Given the description of an element on the screen output the (x, y) to click on. 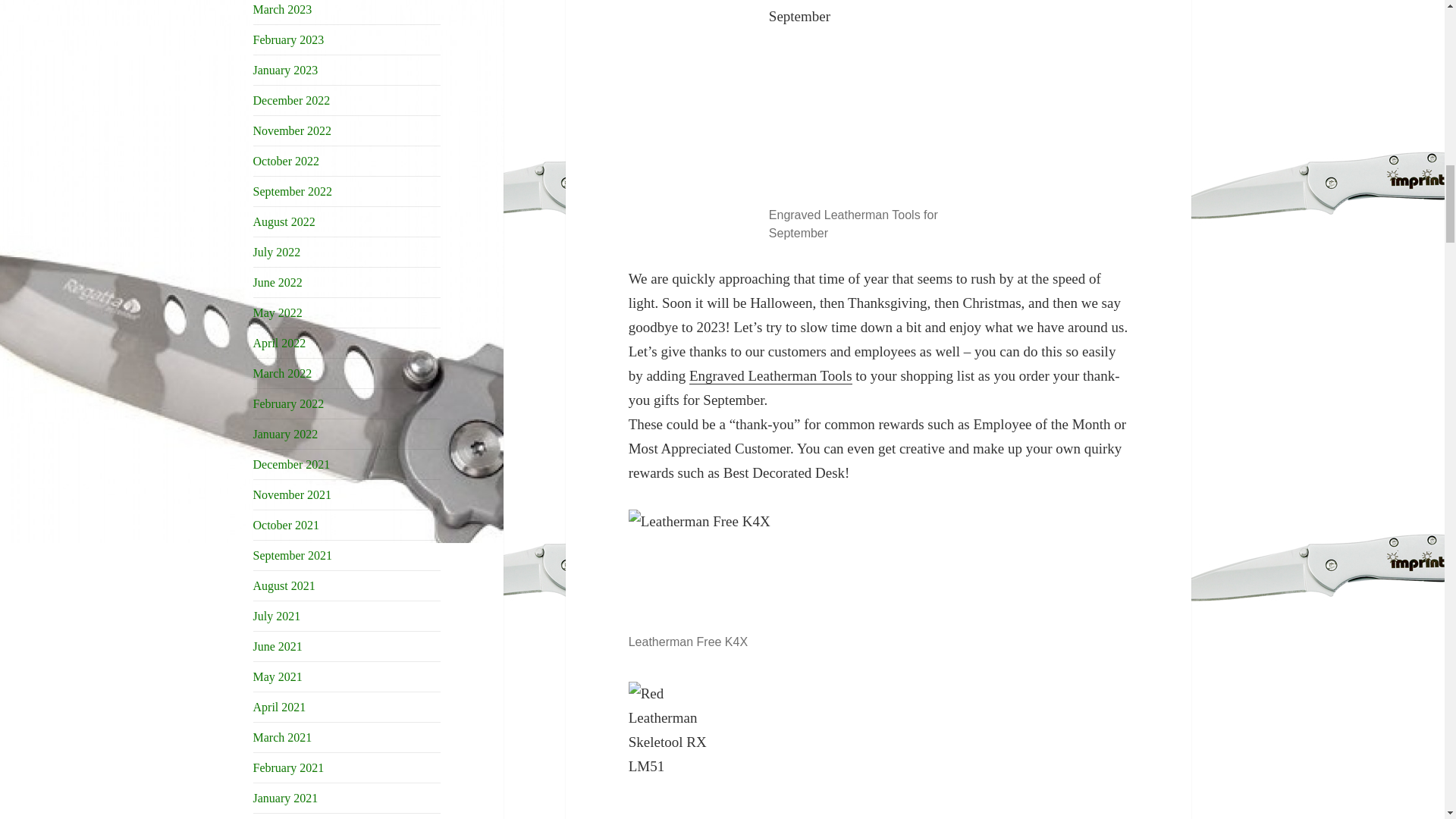
February 2023 (288, 39)
January 2023 (285, 69)
September 2022 (292, 191)
December 2022 (291, 100)
October 2022 (286, 160)
March 2023 (283, 9)
November 2022 (292, 130)
